Given the description of an element on the screen output the (x, y) to click on. 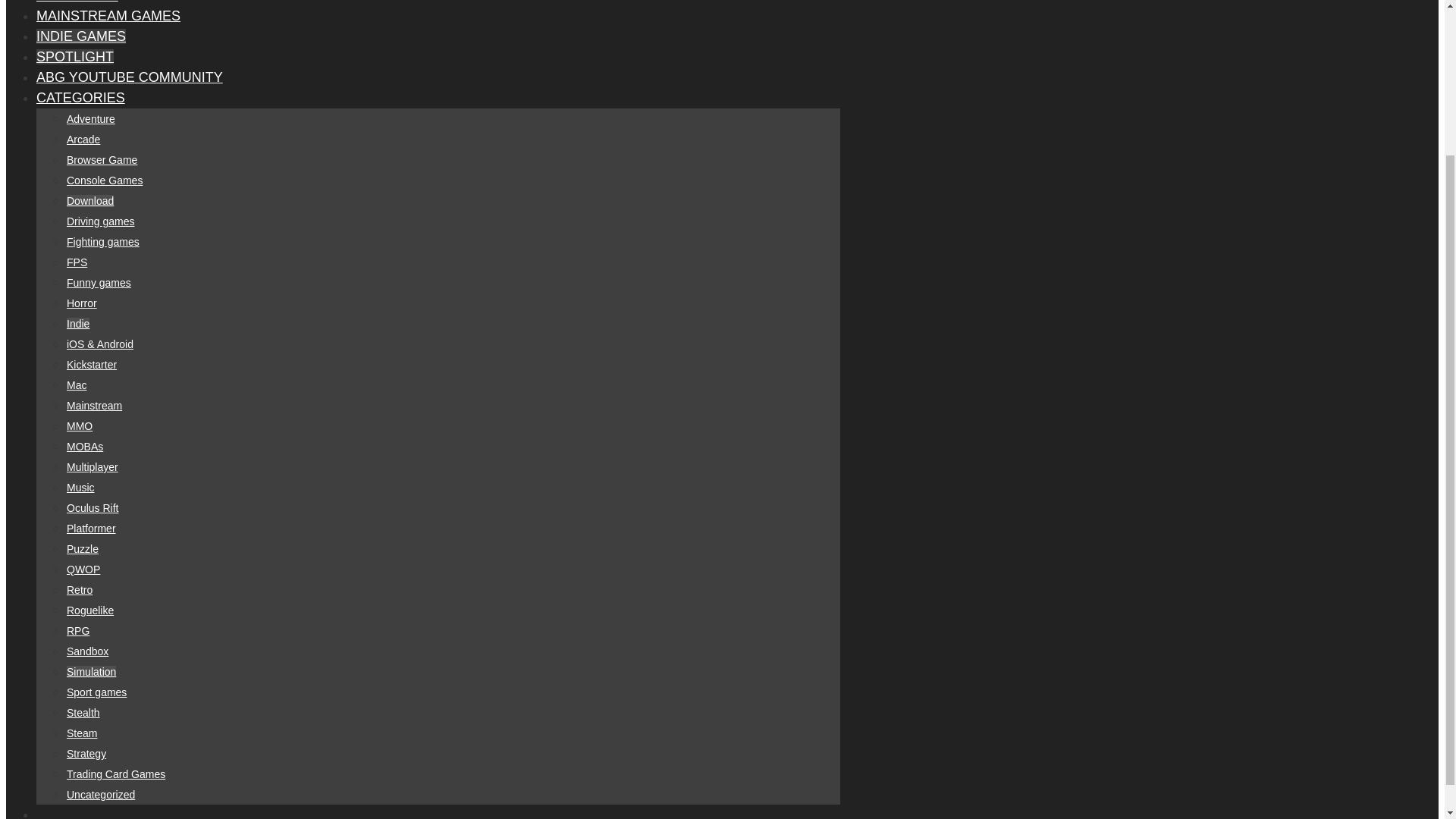
Fighting games (102, 241)
Puzzle (82, 548)
SPOTLIGHT (74, 56)
Browser Game (101, 159)
Horror (81, 303)
HOME PAGE (76, 1)
MMO (79, 426)
Retro (79, 589)
CATEGORIES (80, 97)
Driving games (99, 221)
RPG (77, 630)
Simulation (91, 671)
Sport games (96, 692)
Multiplayer (91, 467)
MOBAs (84, 446)
